Given the description of an element on the screen output the (x, y) to click on. 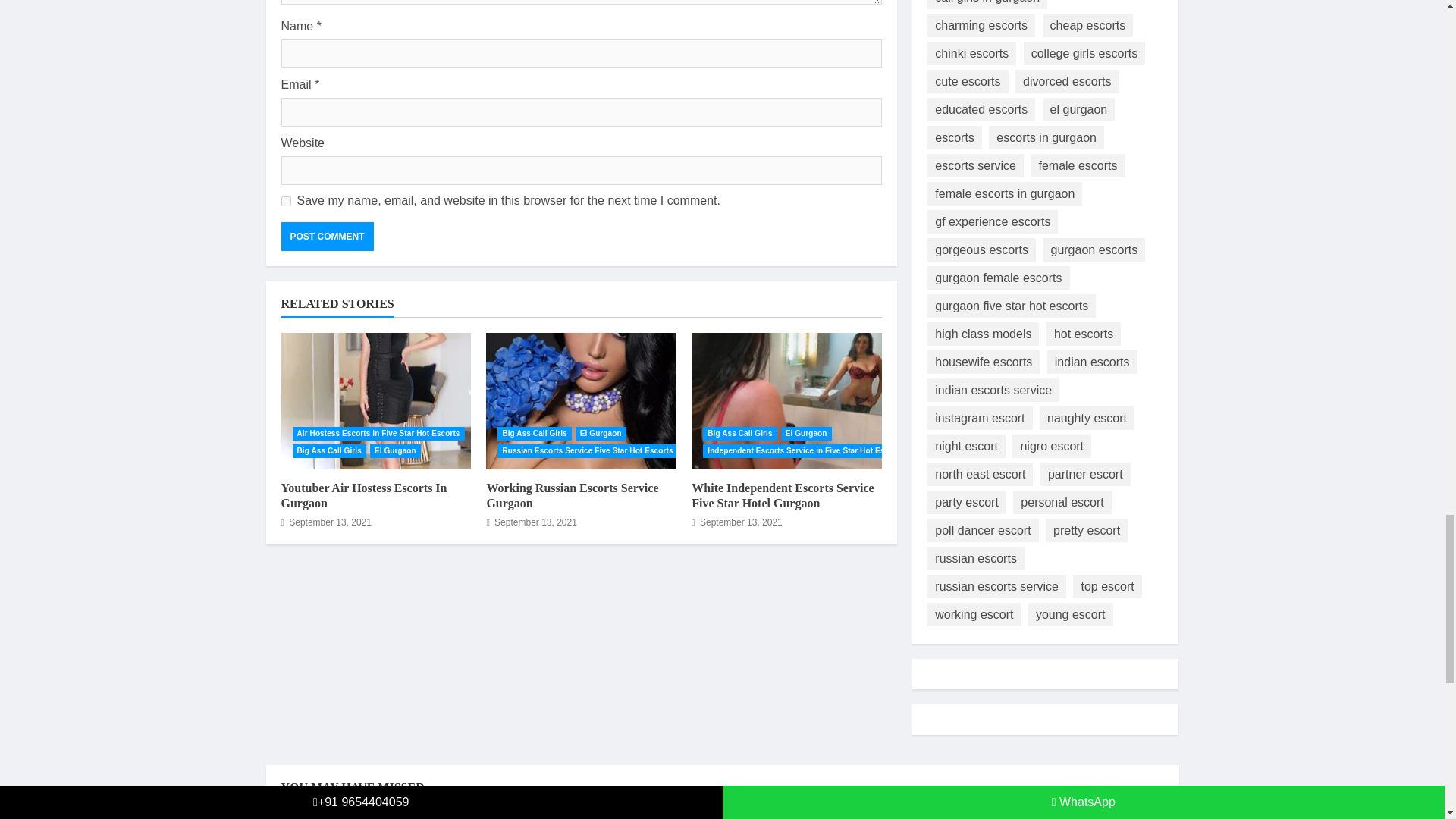
Russian Escorts Service Five Star Hot Escorts (587, 450)
Big Ass Call Girls (739, 433)
El Gurgaon (600, 433)
El Gurgaon (805, 433)
Youtuber Air Hostess Escorts In Gurgaon (375, 400)
Working Russian Escorts Service Gurgaon (572, 495)
Working Russian Escorts Service Gurgaon (581, 400)
Post Comment (326, 235)
El Gurgaon (394, 450)
White Independent Escorts Service Five Star Hotel Gurgaon (786, 400)
